Given the description of an element on the screen output the (x, y) to click on. 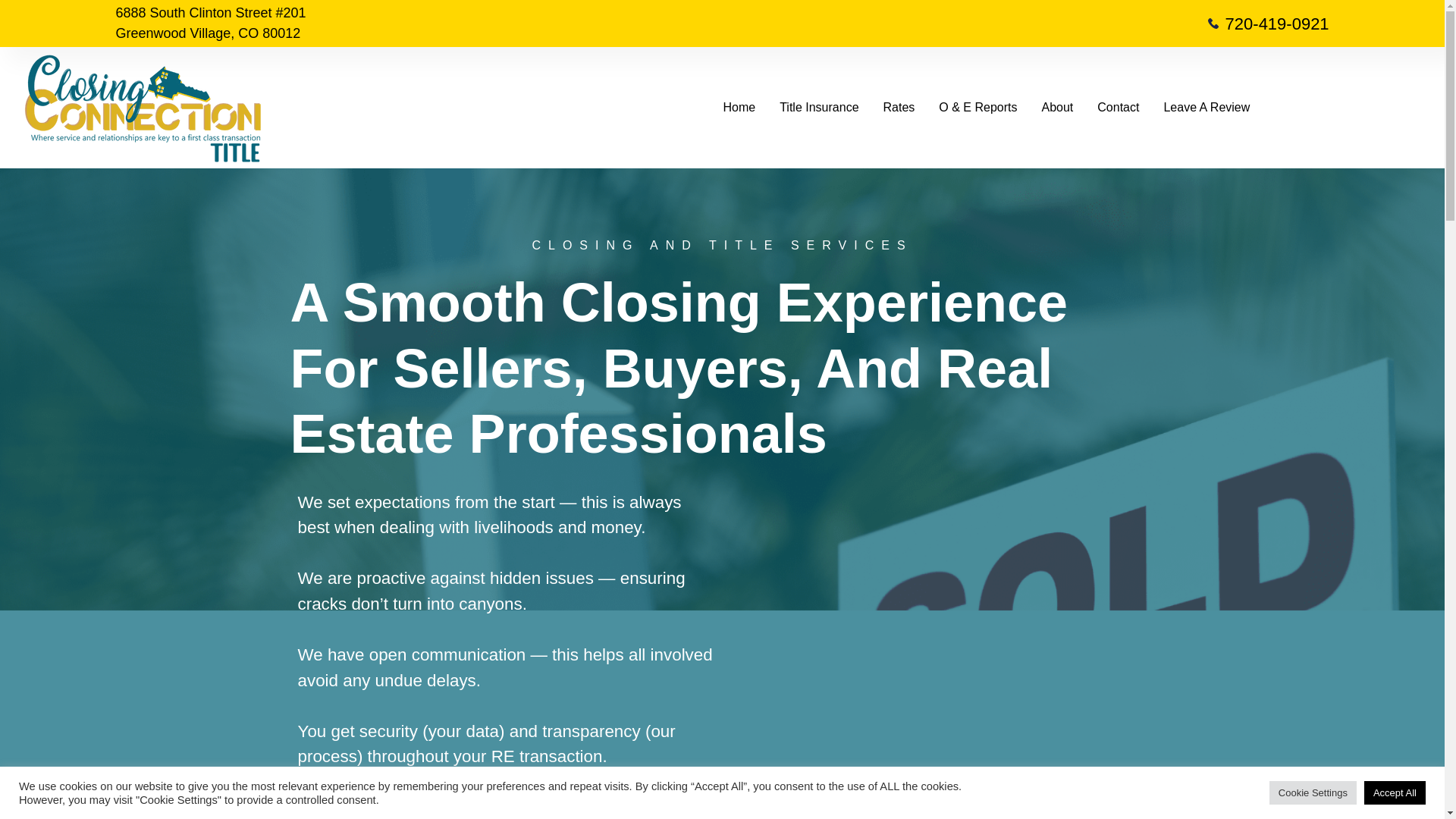
CONNECT WITH US (400, 807)
Home (738, 107)
Accept All (1394, 792)
Rates (898, 107)
Title Insurance (818, 107)
Contact (1118, 107)
720-419-0921 (1024, 23)
About (1057, 107)
Leave A Review (1205, 107)
Cookie Settings (1312, 792)
